Given the description of an element on the screen output the (x, y) to click on. 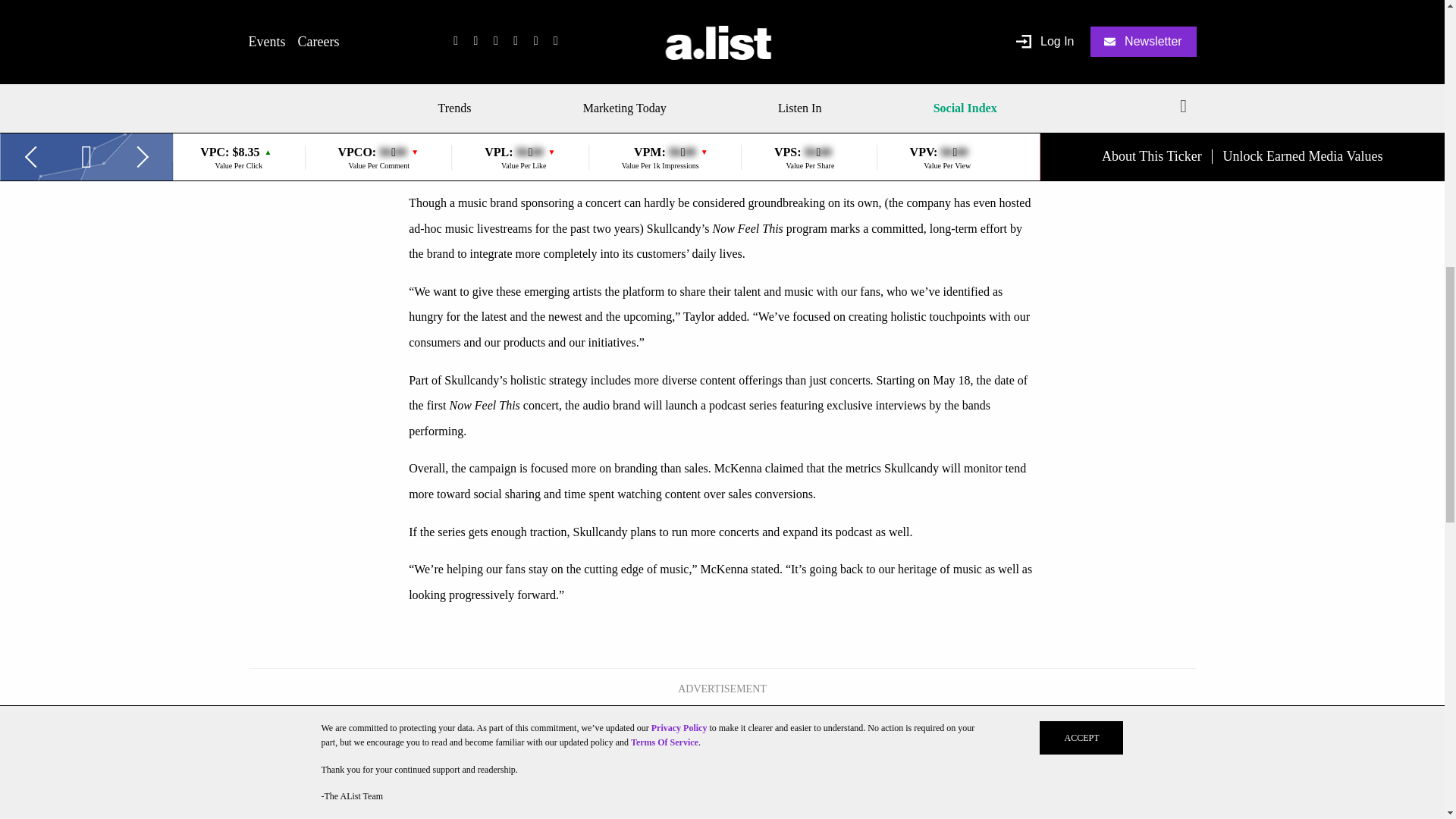
3rd party ad content (721, 735)
